Given the description of an element on the screen output the (x, y) to click on. 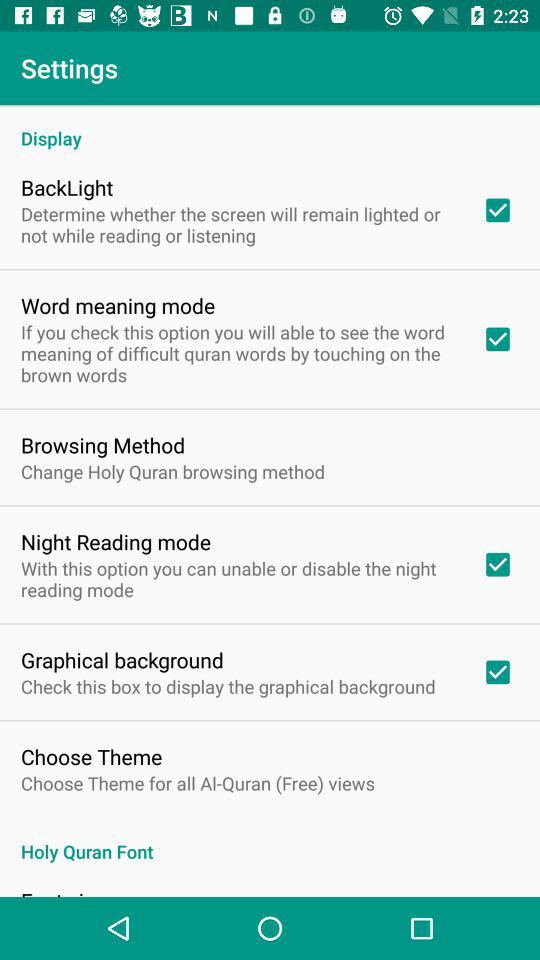
turn on icon above determine whether the (67, 187)
